Given the description of an element on the screen output the (x, y) to click on. 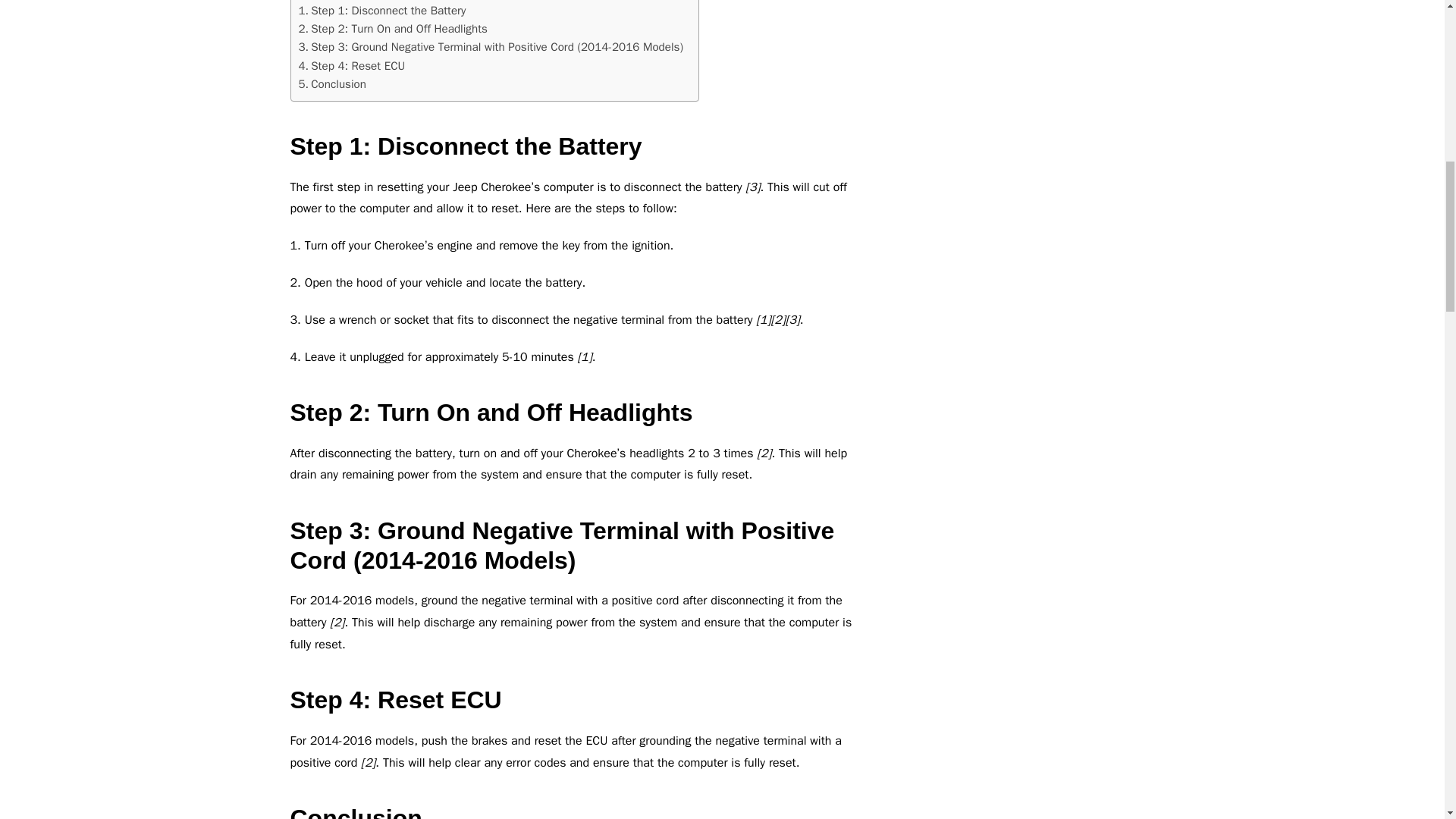
Step 1: Disconnect the Battery (381, 10)
Step 4: Reset ECU (352, 65)
Step 4: Reset ECU (352, 65)
Step 1: Disconnect the Battery (381, 10)
Step 2: Turn On and Off Headlights (392, 28)
Step 2: Turn On and Off Headlights (392, 28)
Conclusion (332, 84)
Conclusion (332, 84)
